Given the description of an element on the screen output the (x, y) to click on. 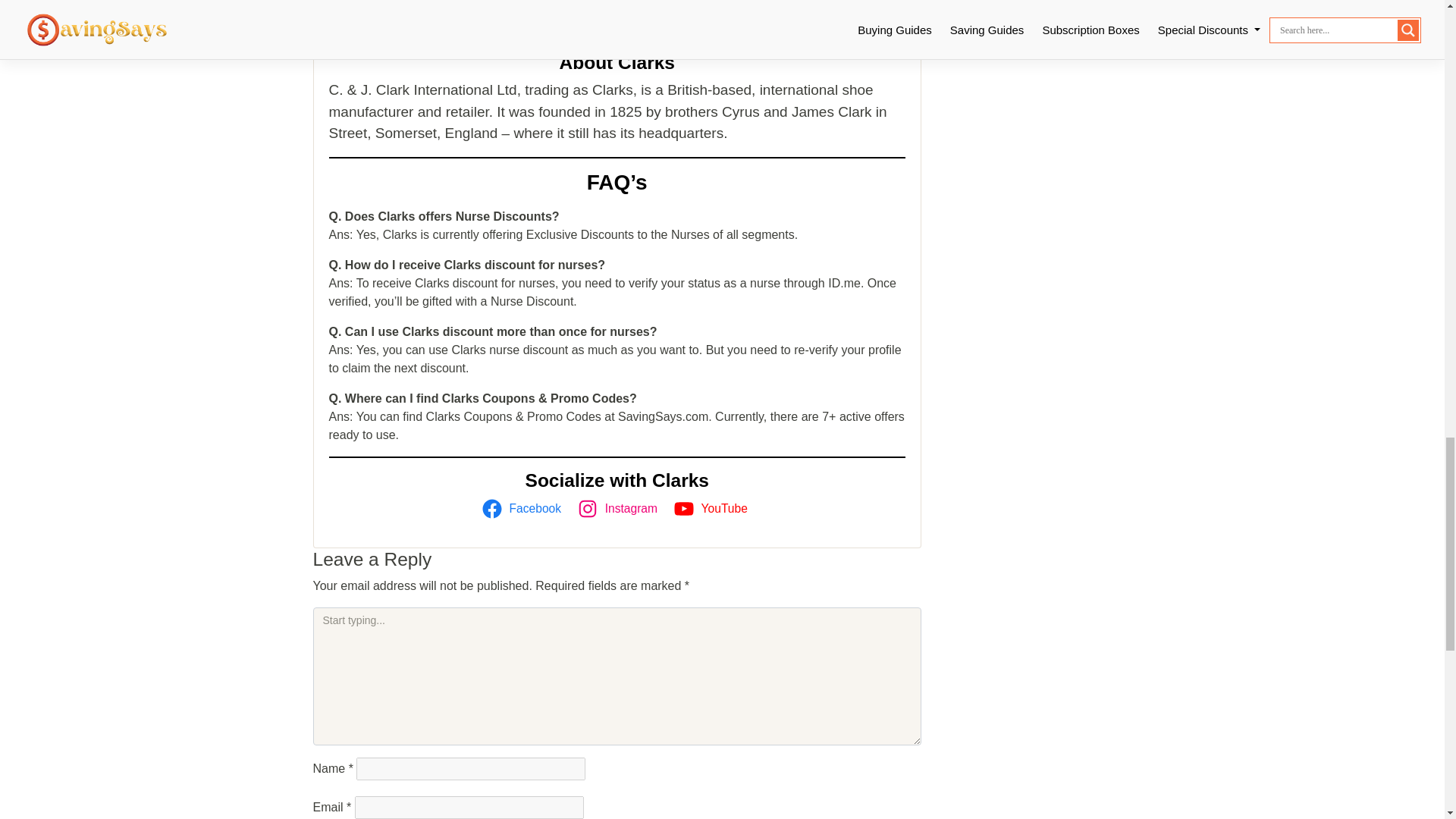
Instagram (619, 508)
NYDJ Nurse Discount (401, 16)
YouTube (713, 508)
Facebook (523, 508)
